Given the description of an element on the screen output the (x, y) to click on. 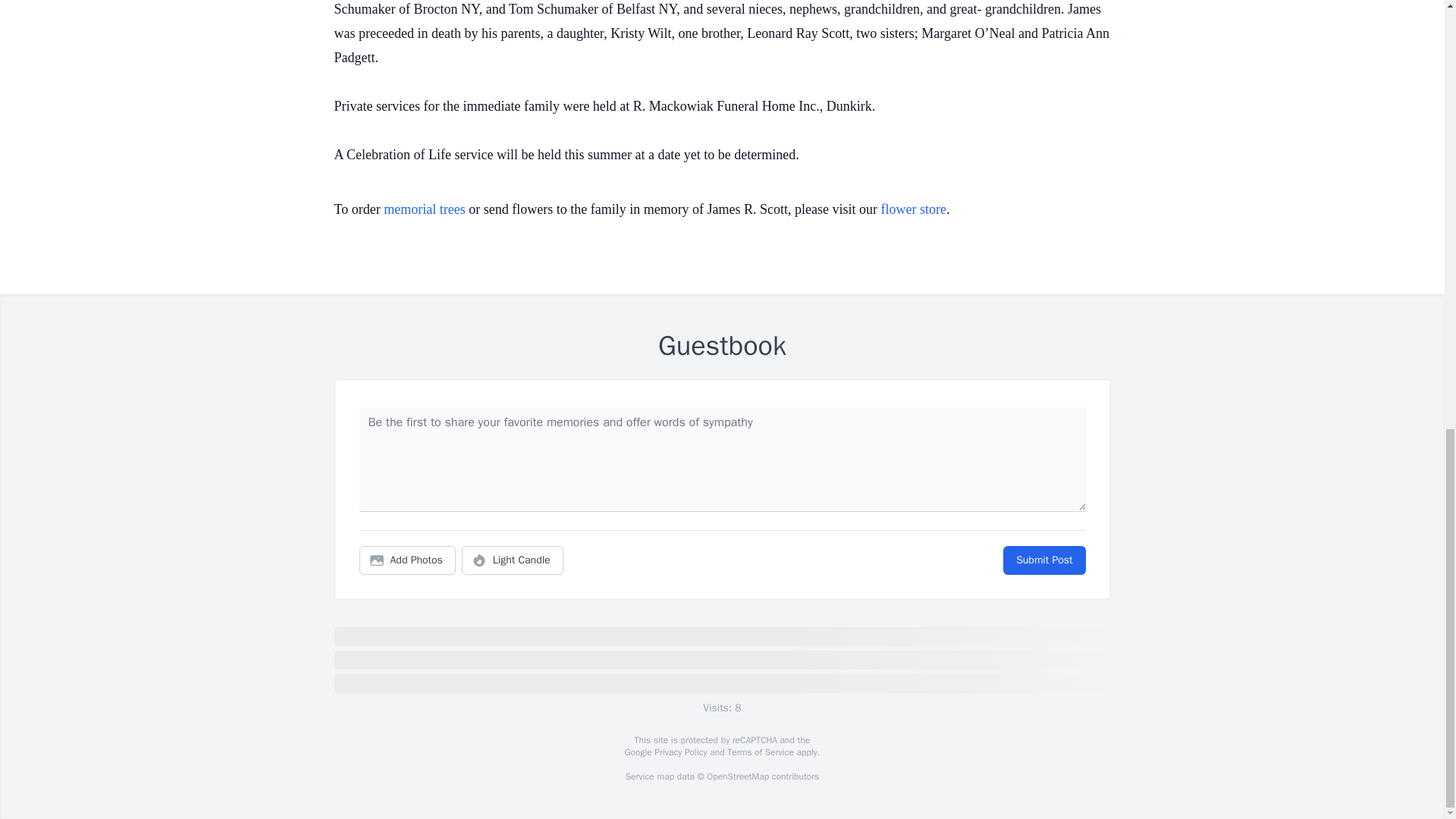
Light Candle (512, 560)
Terms of Service (759, 752)
flower store (913, 209)
Submit Post (1043, 560)
Privacy Policy (679, 752)
Add Photos (407, 560)
memorial trees (424, 209)
OpenStreetMap (737, 776)
